Given the description of an element on the screen output the (x, y) to click on. 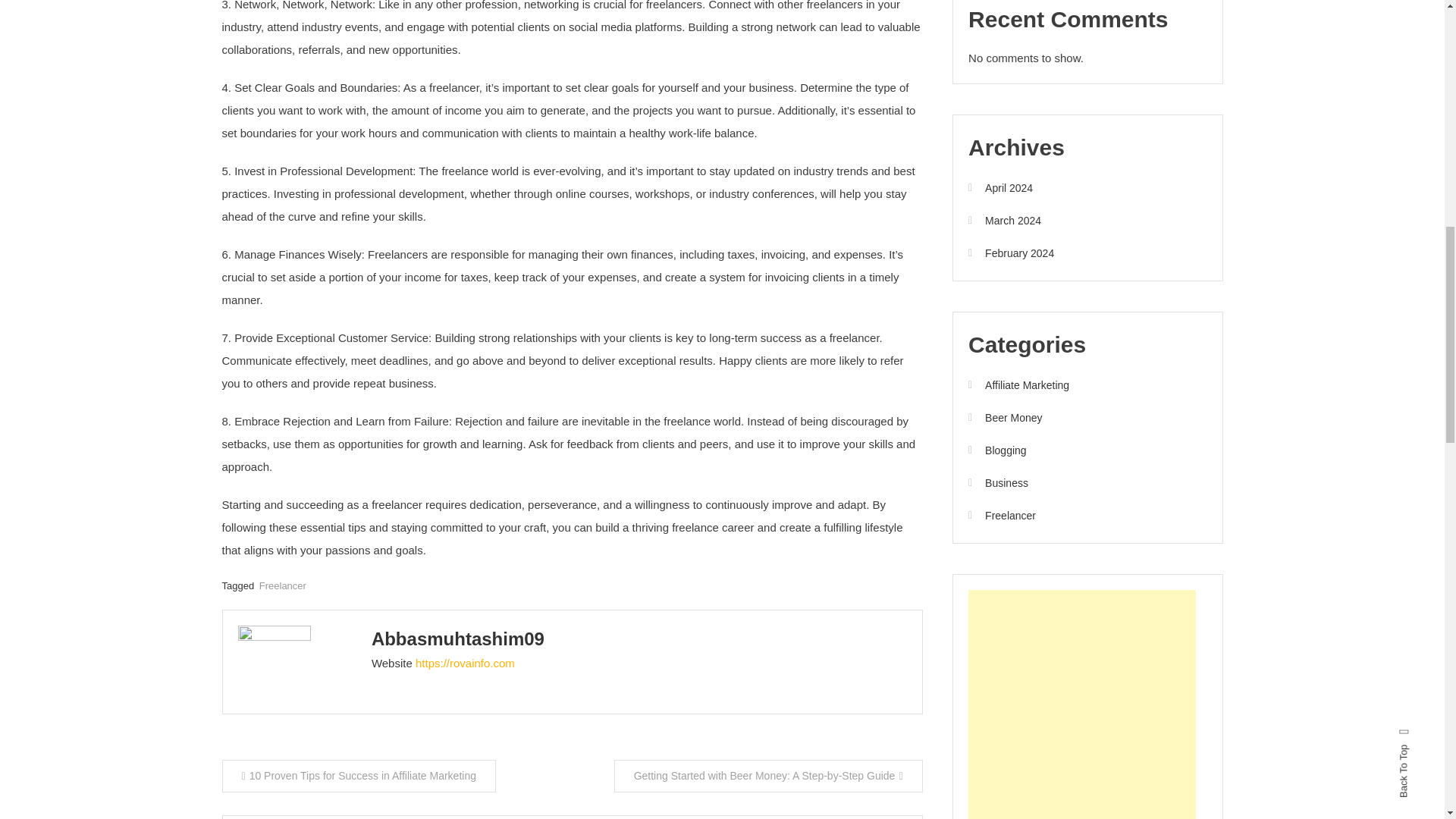
Freelancer (282, 585)
Posts by abbasmuhtashim09 (457, 638)
Abbasmuhtashim09 (457, 638)
10 Proven Tips for Success in Affiliate Marketing (358, 776)
Advertisement (1081, 704)
Getting Started with Beer Money: A Step-by-Step Guide (768, 776)
